Given the description of an element on the screen output the (x, y) to click on. 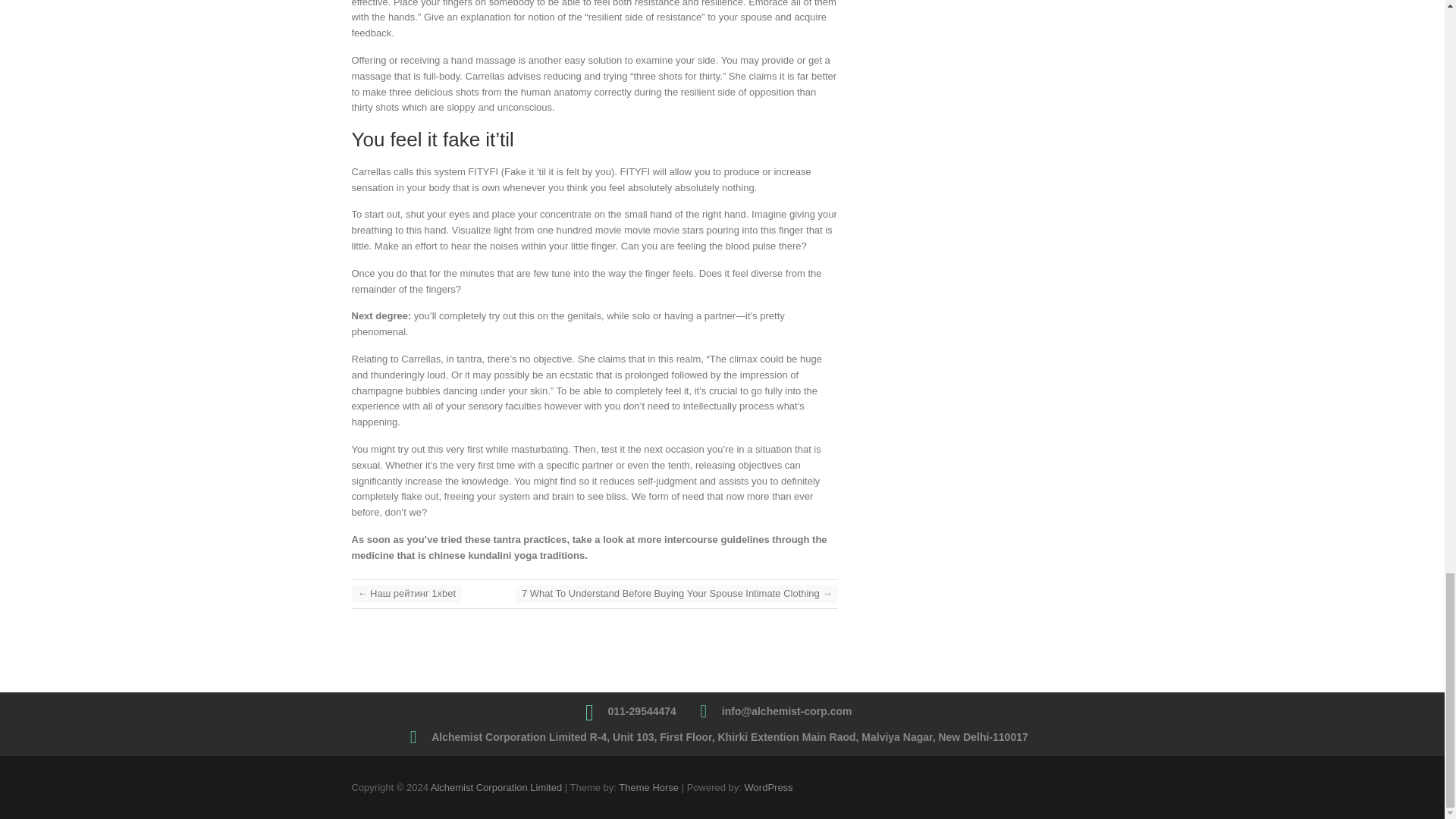
 Call Us  (642, 711)
 Mail Us  (786, 711)
Theme Horse (648, 787)
Alchemist Corporation Limited (496, 787)
WordPress (768, 787)
